Given the description of an element on the screen output the (x, y) to click on. 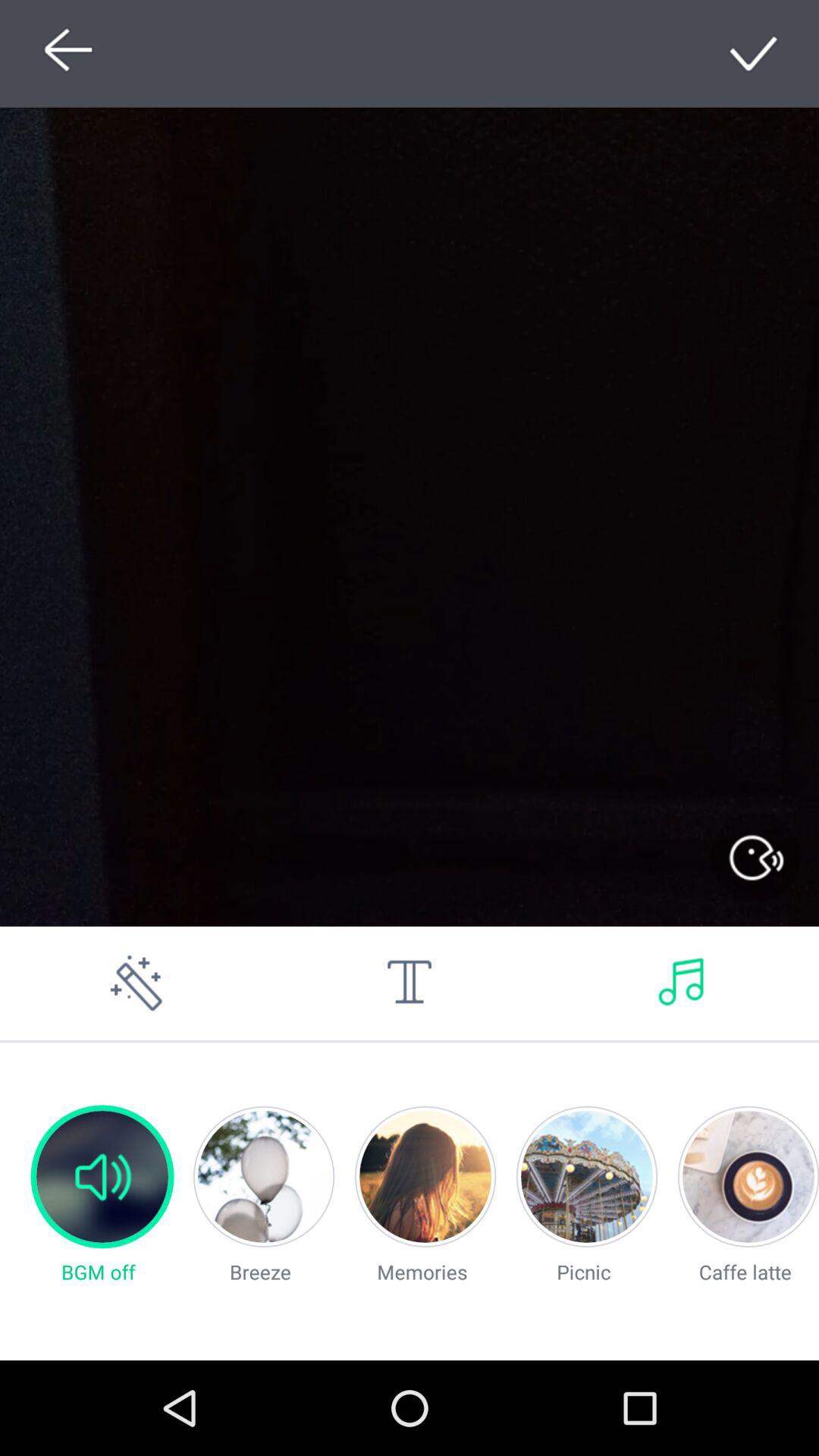
click to edit option (136, 983)
